Given the description of an element on the screen output the (x, y) to click on. 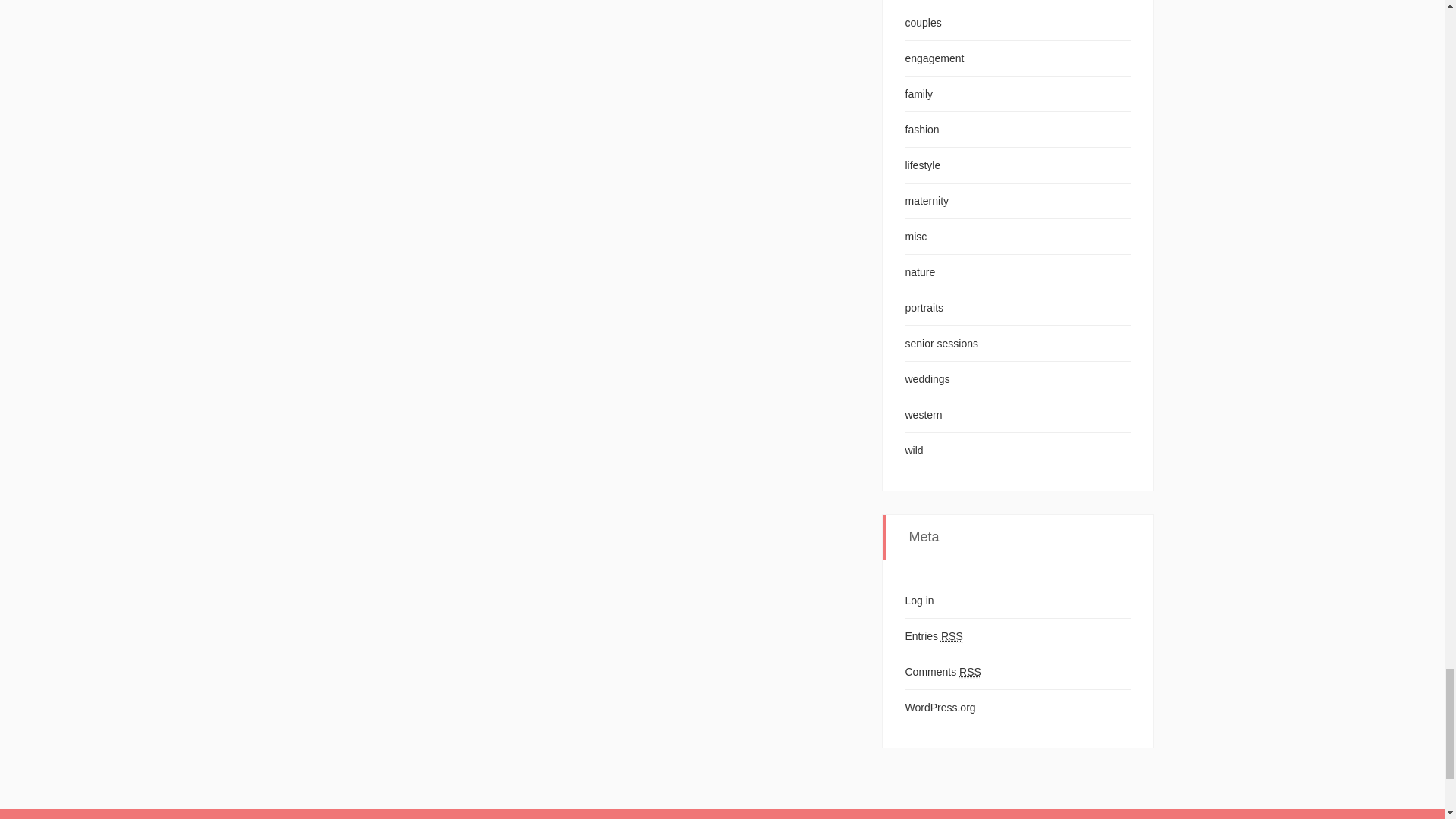
Really Simple Syndication (951, 635)
Really Simple Syndication (970, 671)
